Given the description of an element on the screen output the (x, y) to click on. 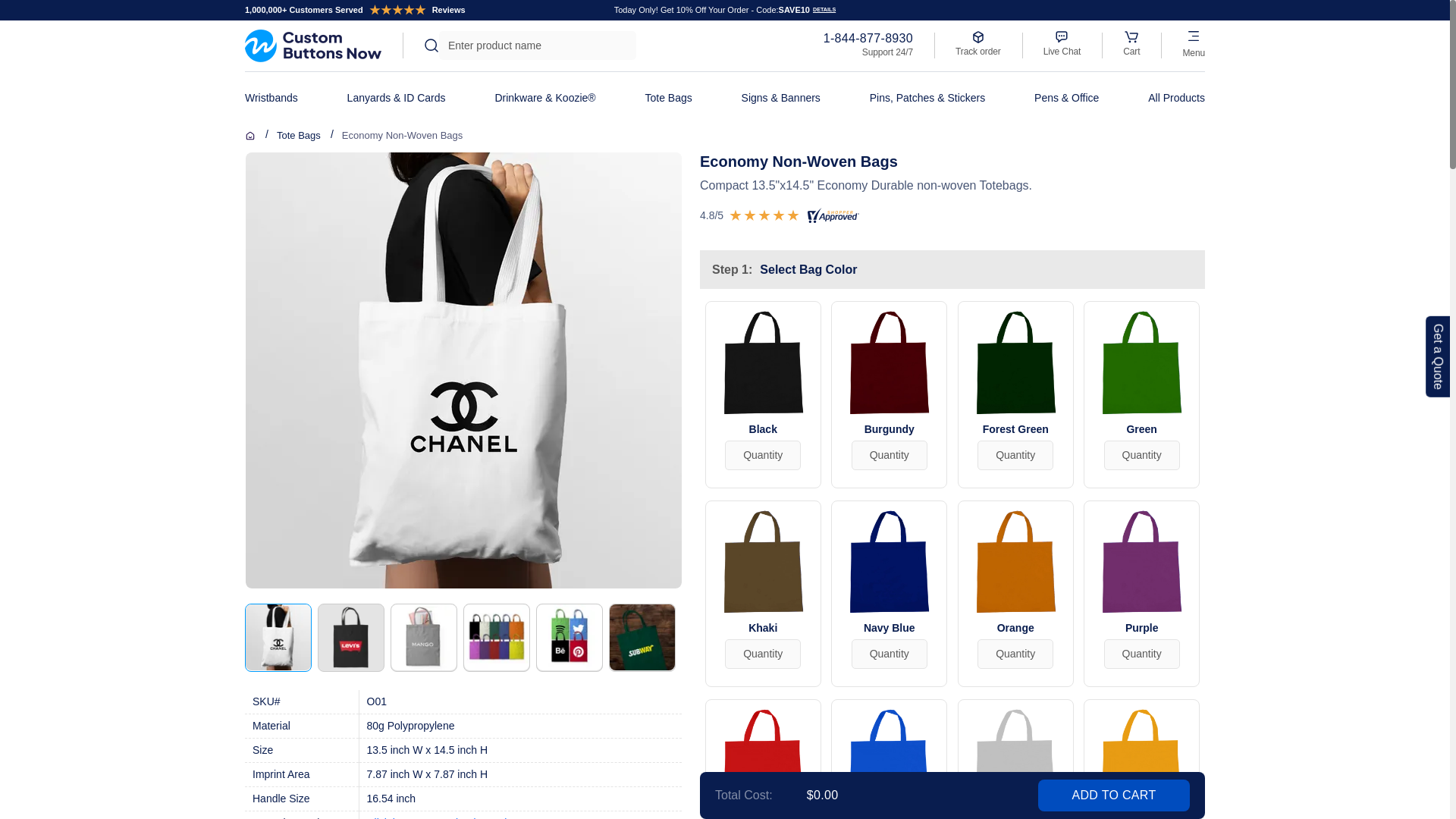
Live Chat (1062, 43)
Track order (978, 43)
Live Chat (1062, 43)
Track Order (978, 43)
Wristbands (271, 98)
DETAILS (822, 9)
Cart (1131, 36)
